Given the description of an element on the screen output the (x, y) to click on. 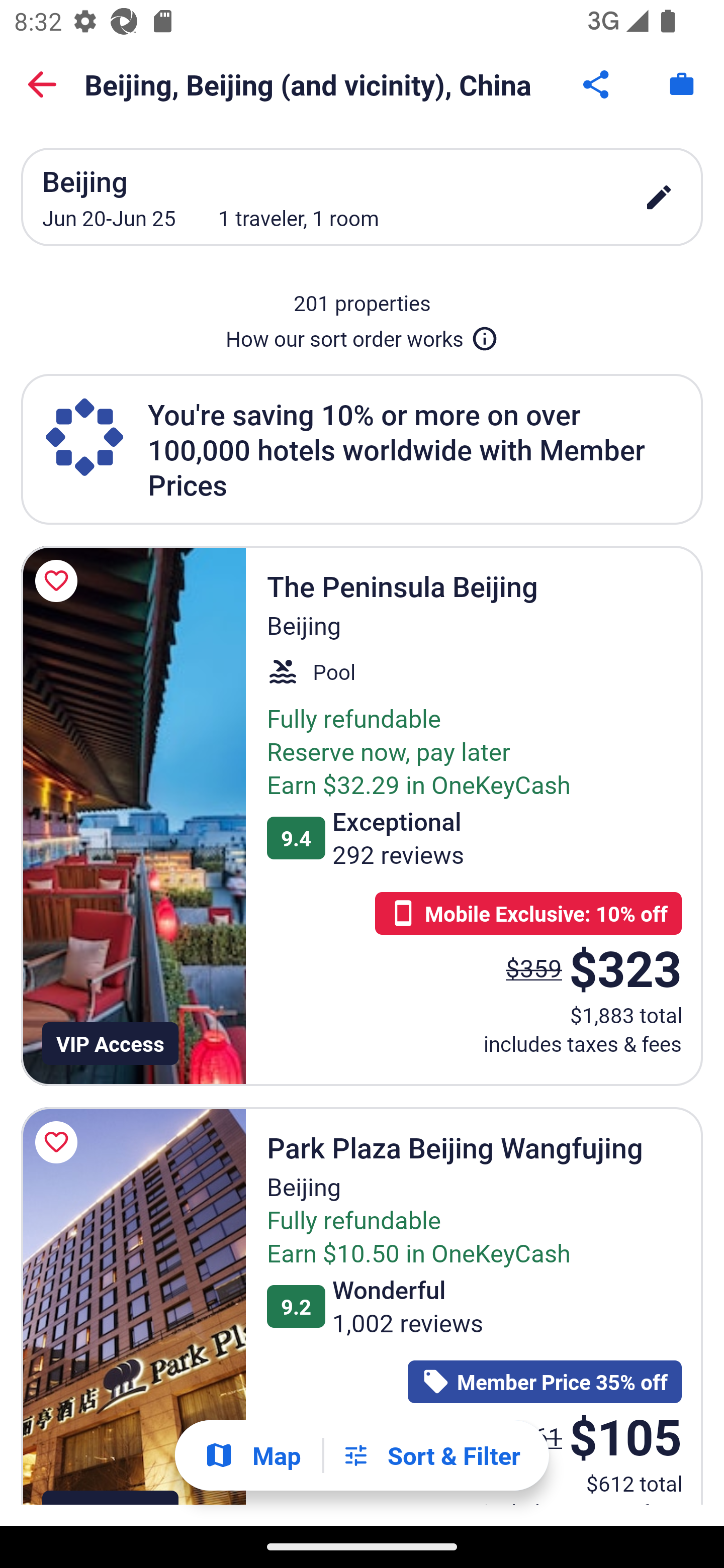
Back (42, 84)
Share Button (597, 84)
Trips. Button (681, 84)
Beijing Jun 20-Jun 25 1 traveler, 1 room edit (361, 196)
How our sort order works (361, 334)
Save The Peninsula Beijing to a trip (59, 580)
The Peninsula Beijing (133, 815)
$359 The price was $359 (533, 967)
Save Park Plaza Beijing Wangfujing to a trip (59, 1141)
Park Plaza Beijing Wangfujing (133, 1306)
Filters Sort & Filter Filters Button (430, 1455)
Show map Map Show map Button (252, 1455)
